Given the description of an element on the screen output the (x, y) to click on. 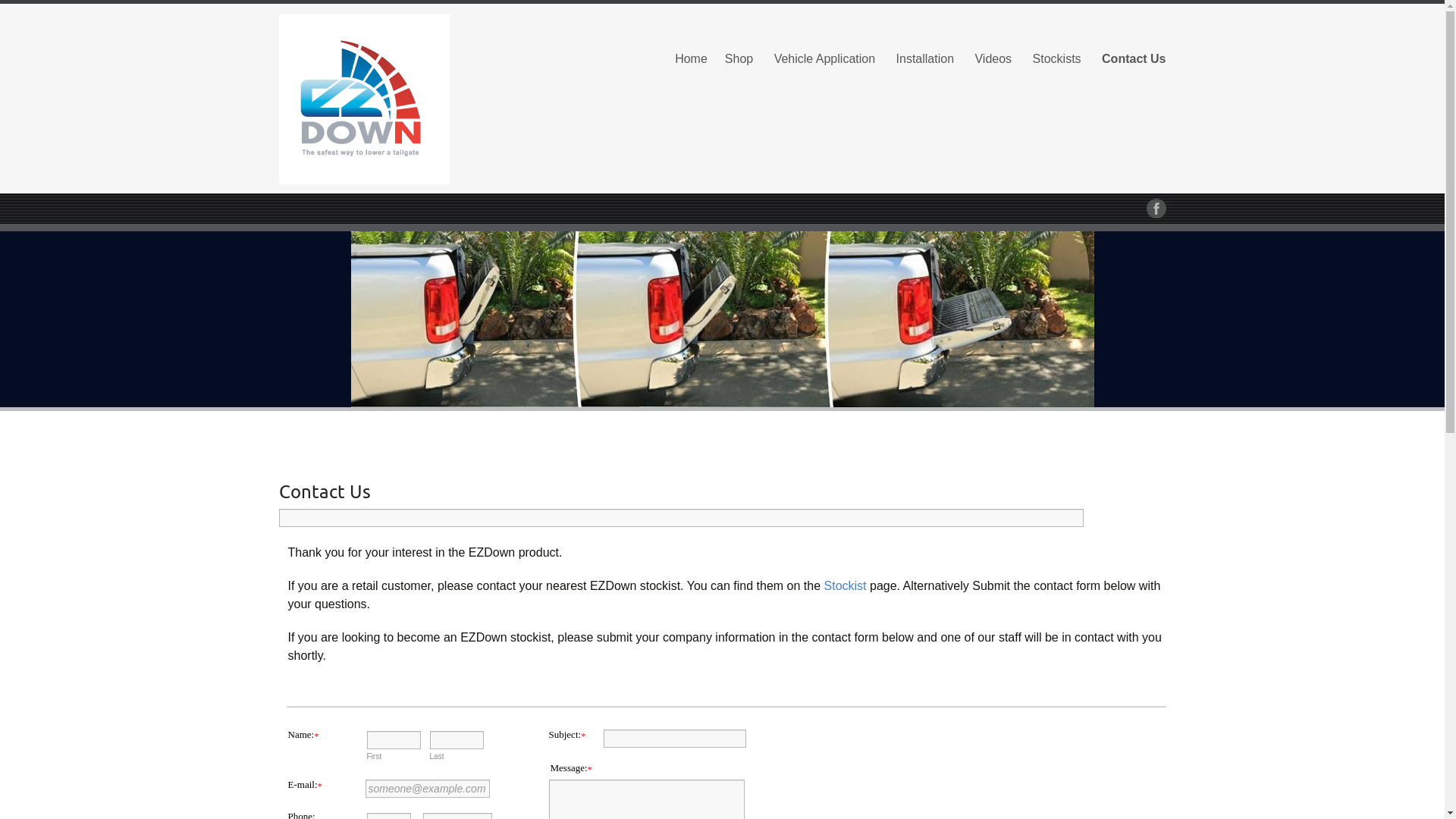
Home Element type: text (690, 58)
Vehicle Application Element type: text (824, 58)
Stockist Element type: text (845, 585)
Shop Element type: text (738, 58)
Installation Element type: text (925, 58)
EZDown Australia Element type: hover (419, 98)
someone@example.com Element type: hover (427, 788)
Contact Us Element type: text (1133, 58)
Stockists Element type: text (1056, 58)
Videos Element type: text (992, 58)
